Given the description of an element on the screen output the (x, y) to click on. 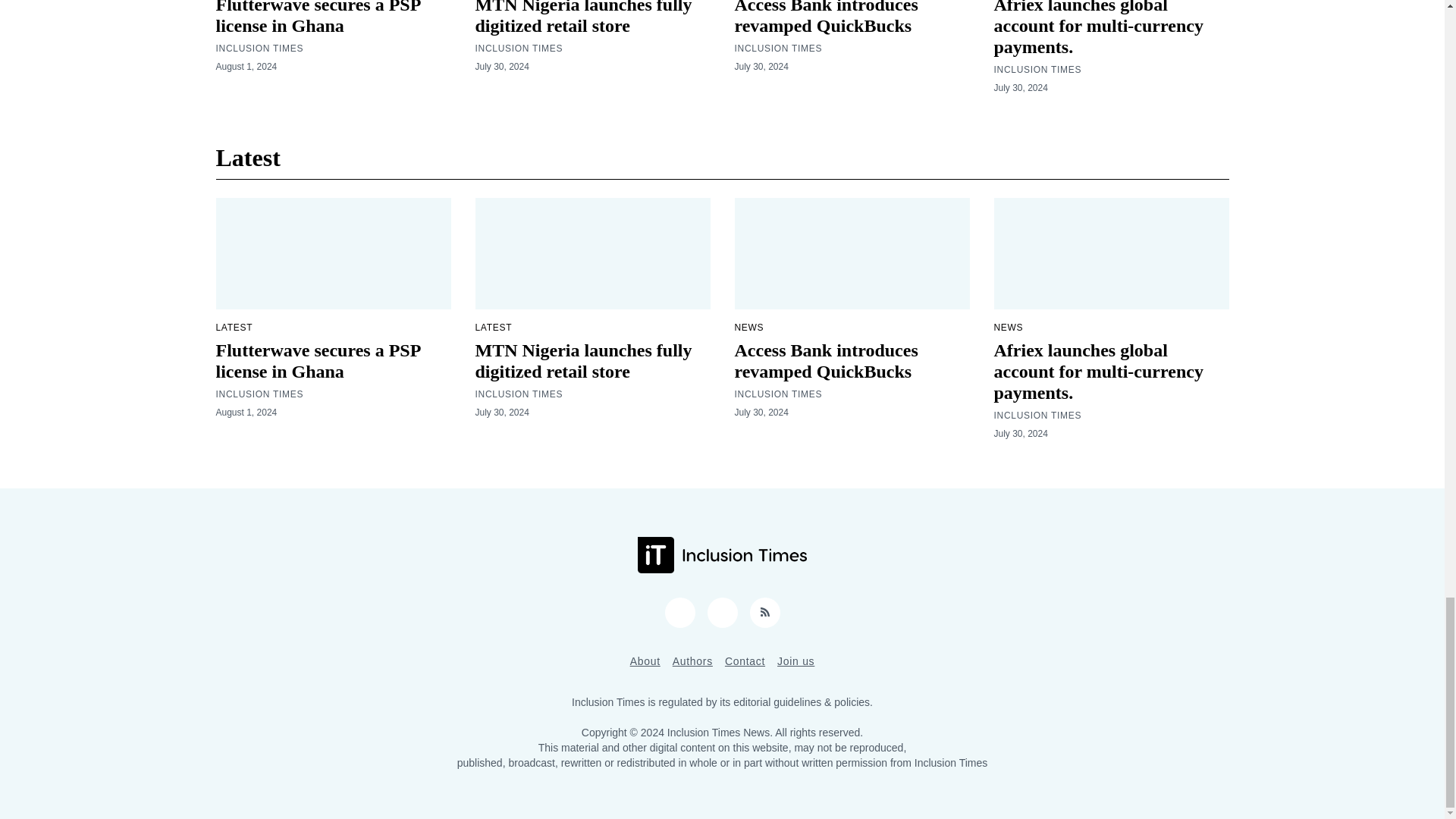
Access Bank introduces revamped QuickBucks (825, 18)
MTN Nigeria launches fully digitized retail store (582, 18)
Afriex launches global account for multi-currency payments. (1097, 28)
INCLUSION TIMES (518, 48)
INCLUSION TIMES (1036, 69)
Flutterwave secures a PSP license in Ghana (317, 18)
INCLUSION TIMES (777, 48)
INCLUSION TIMES (258, 48)
